Given the description of an element on the screen output the (x, y) to click on. 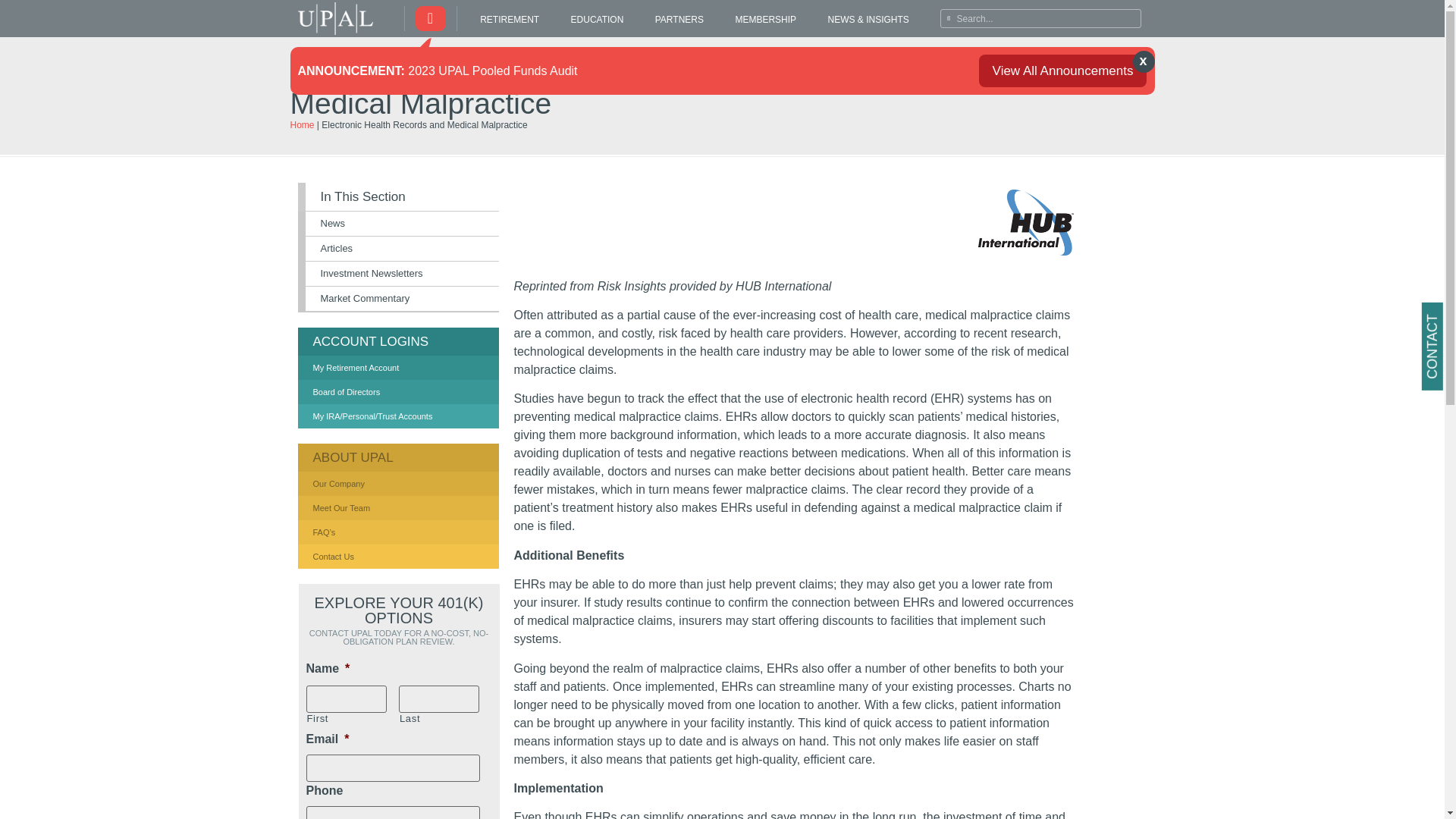
MEMBERSHIP (765, 19)
2023 UPAL Pooled Funds Audit (491, 69)
RETIREMENT (509, 19)
EDUCATION (596, 19)
PARTNERS (679, 19)
